Given the description of an element on the screen output the (x, y) to click on. 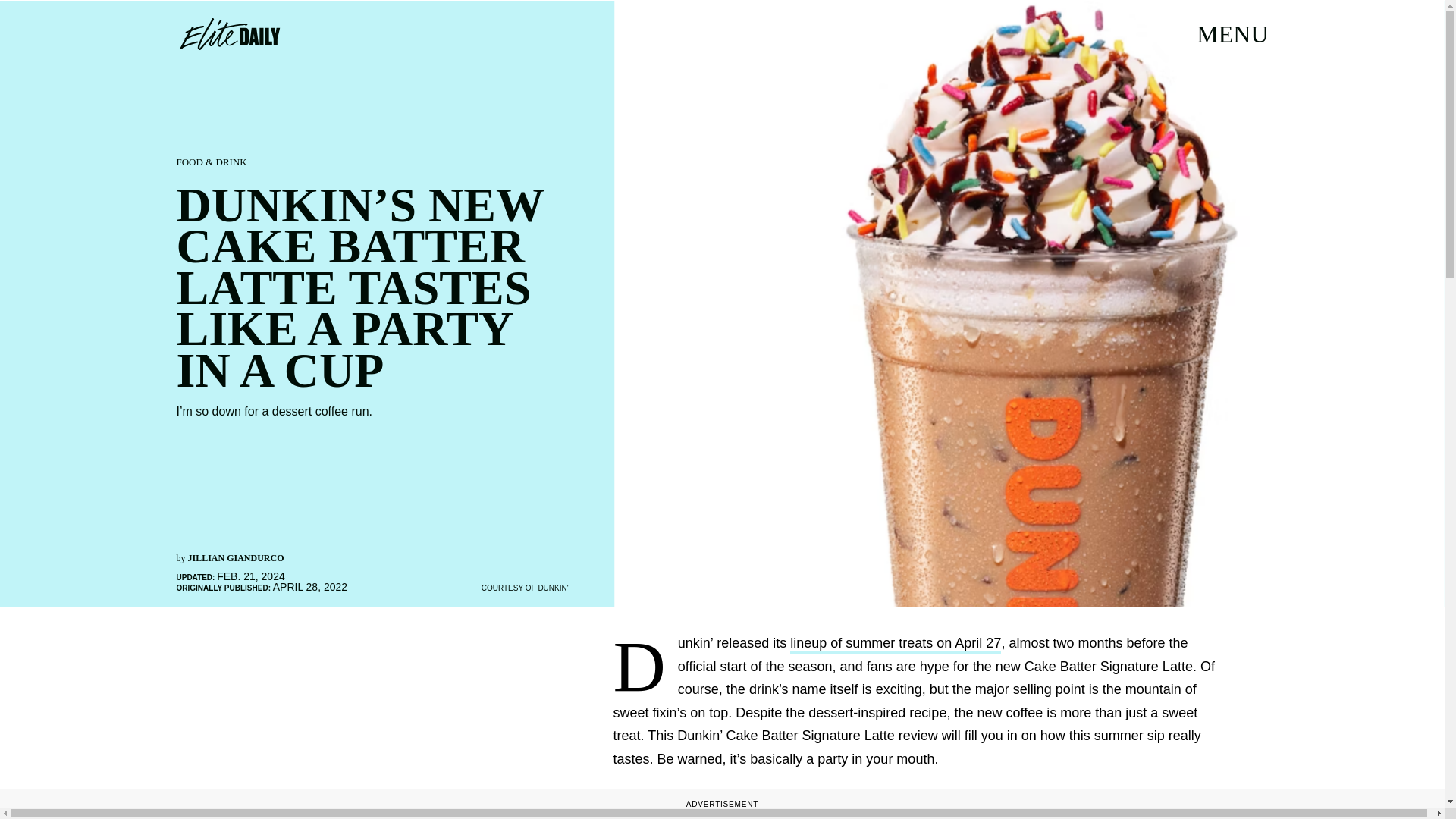
JILLIAN GIANDURCO (235, 557)
lineup of summer treats on April 27 (895, 644)
Elite Daily (229, 33)
